Given the description of an element on the screen output the (x, y) to click on. 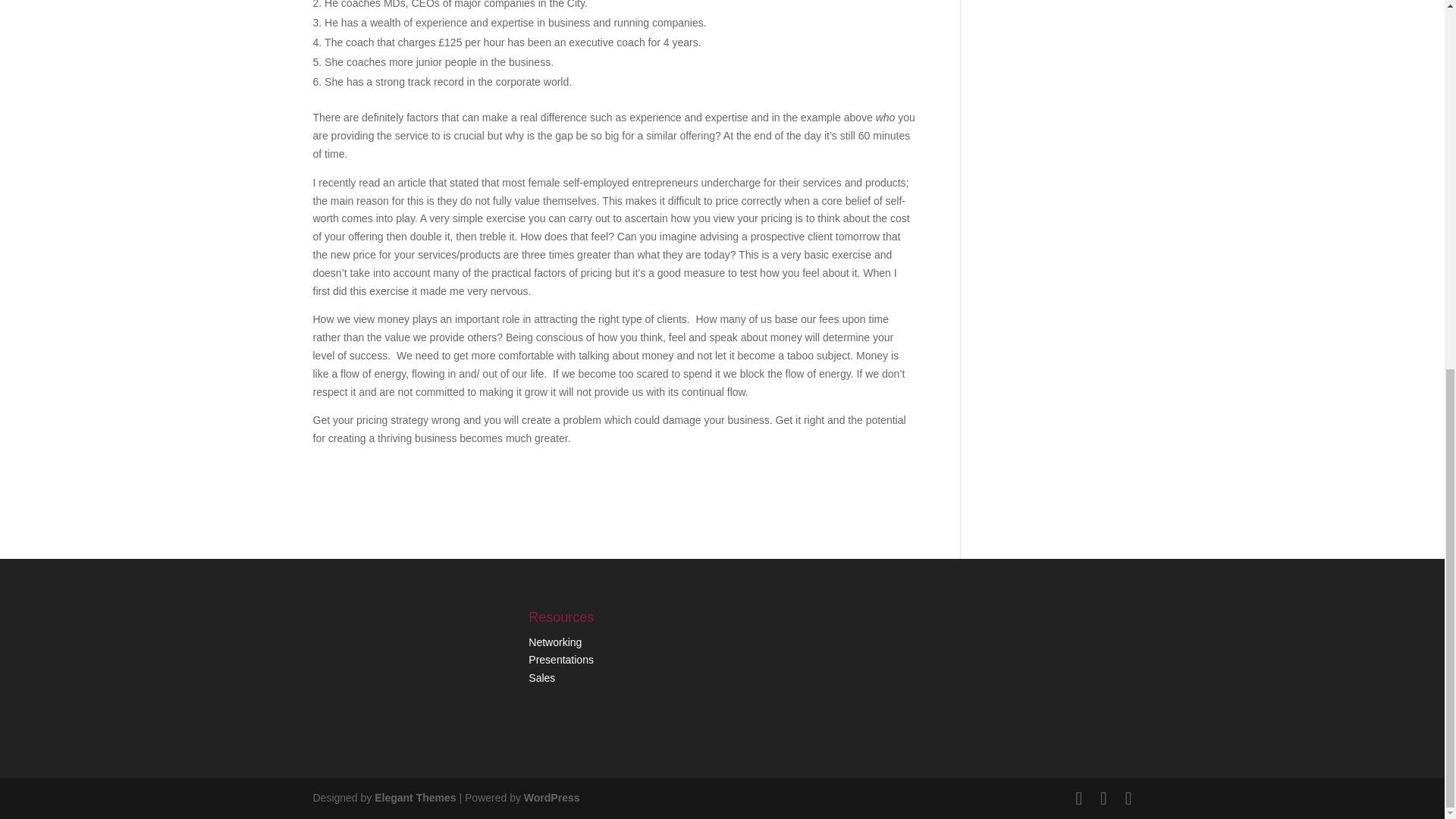
Elegant Themes (414, 797)
Premium WordPress Themes (414, 797)
WordPress (551, 797)
